Given the description of an element on the screen output the (x, y) to click on. 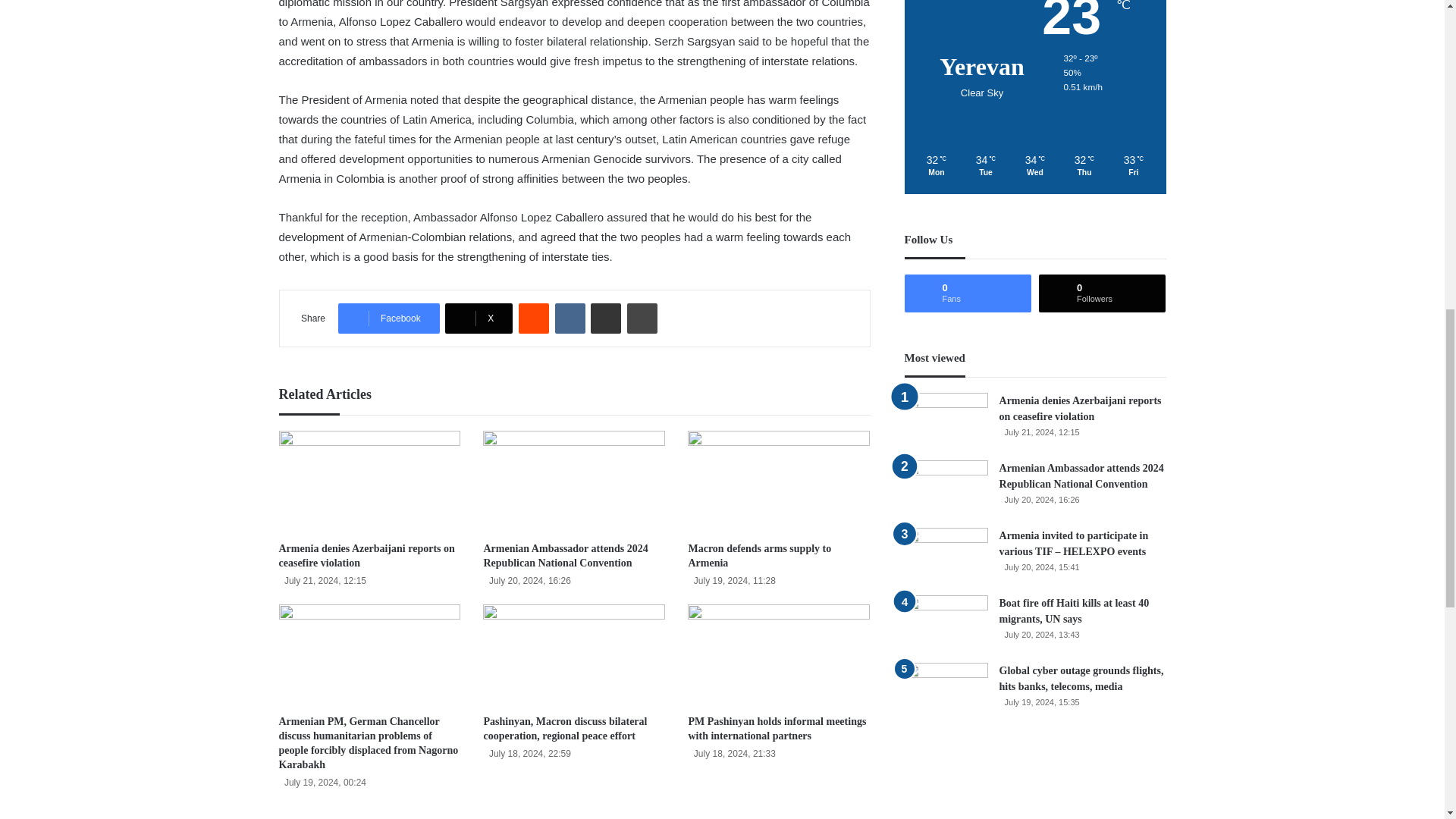
Share via Email (606, 318)
VKontakte (569, 318)
Reddit (533, 318)
Print (642, 318)
Facebook (388, 318)
X (478, 318)
